Given the description of an element on the screen output the (x, y) to click on. 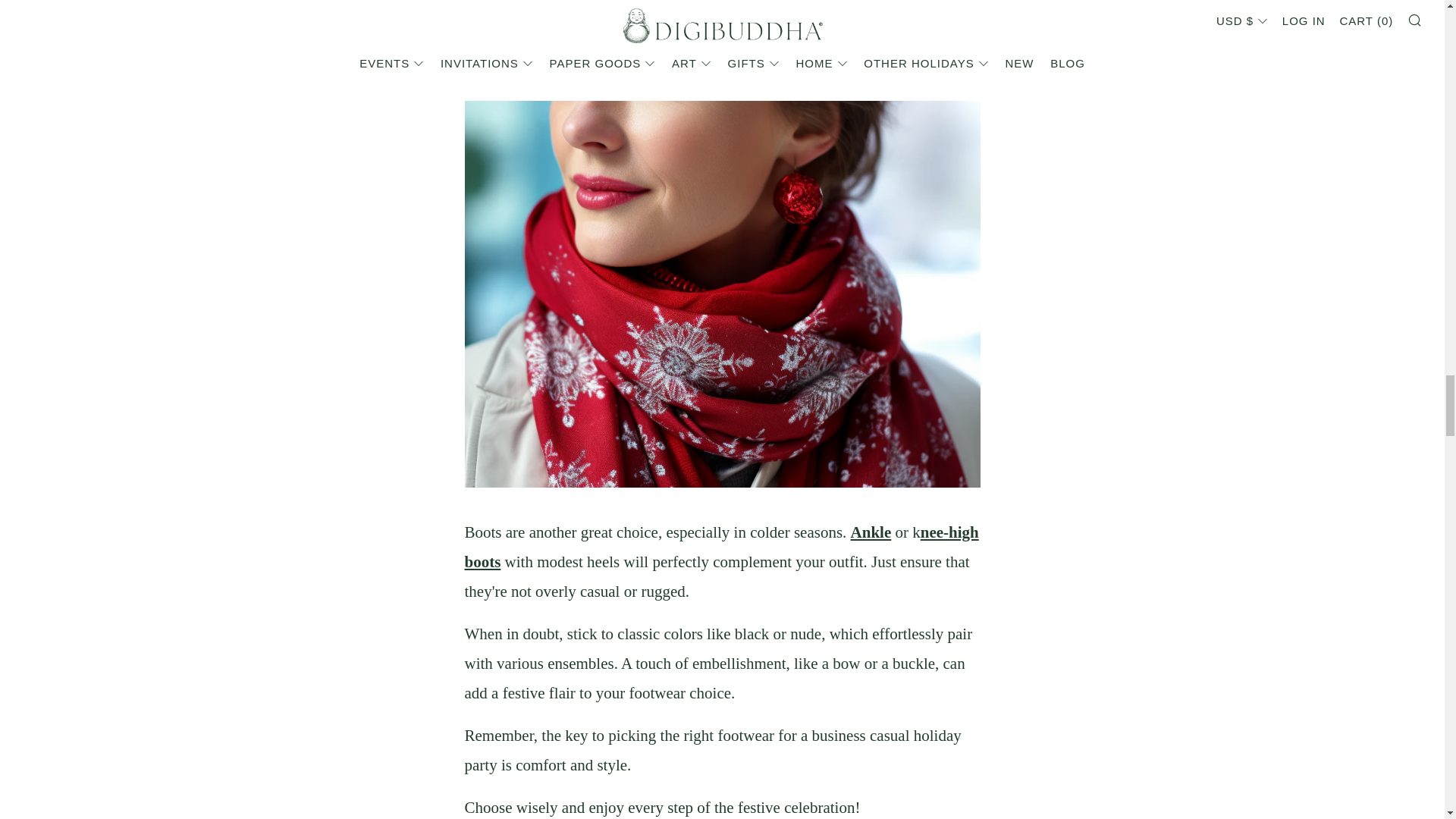
Dolce Vita Women's Fynn Fashion Boot (721, 546)
Clarks Women's Maye Strap Ankle Boot (870, 532)
